Given the description of an element on the screen output the (x, y) to click on. 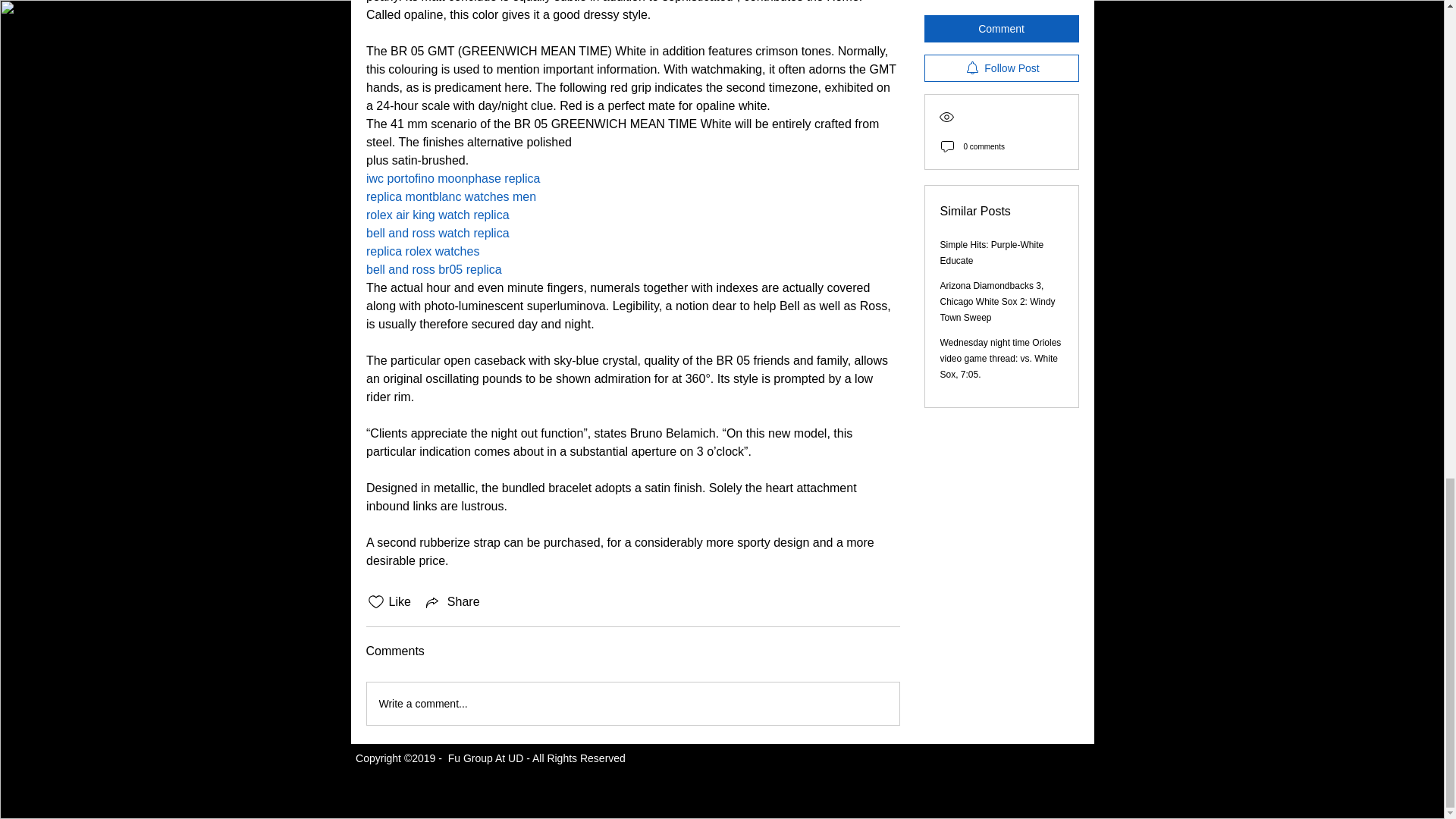
iwc portofino moonphase replica (451, 178)
replica rolex watches (422, 250)
bell and ross br05 replica (432, 269)
Share (451, 601)
rolex air king watch replica (436, 214)
replica montblanc watches men (450, 196)
Write a comment... (632, 703)
bell and ross watch replica (436, 232)
